Given the description of an element on the screen output the (x, y) to click on. 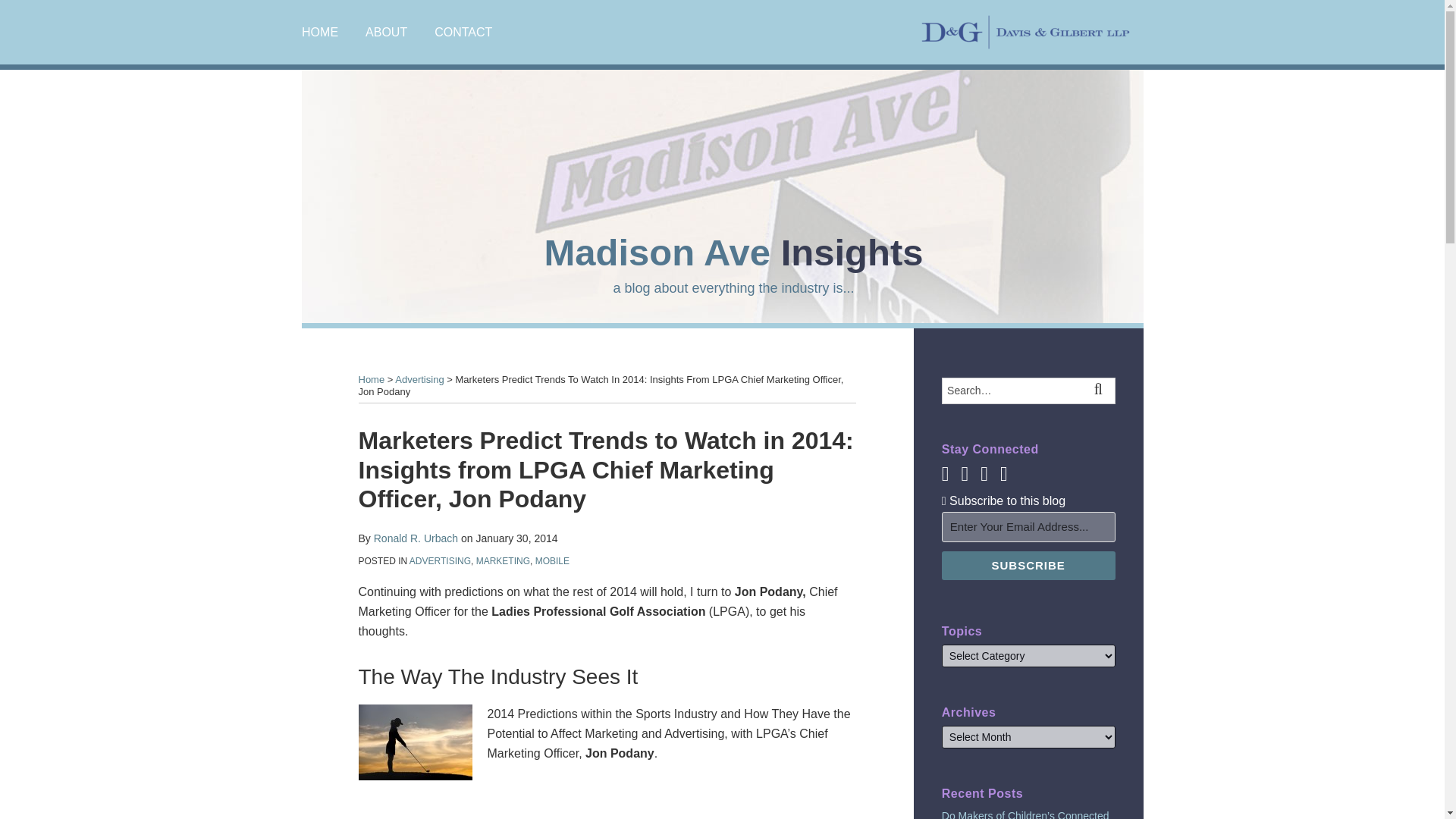
Home (371, 378)
Advertising (419, 378)
Subscribe (1028, 565)
ADVERTISING (439, 561)
HOME (319, 32)
Ronald R. Urbach (416, 538)
SEARCH (1101, 390)
MOBILE (552, 561)
MARKETING (502, 561)
Madison Ave Insights (733, 251)
